Given the description of an element on the screen output the (x, y) to click on. 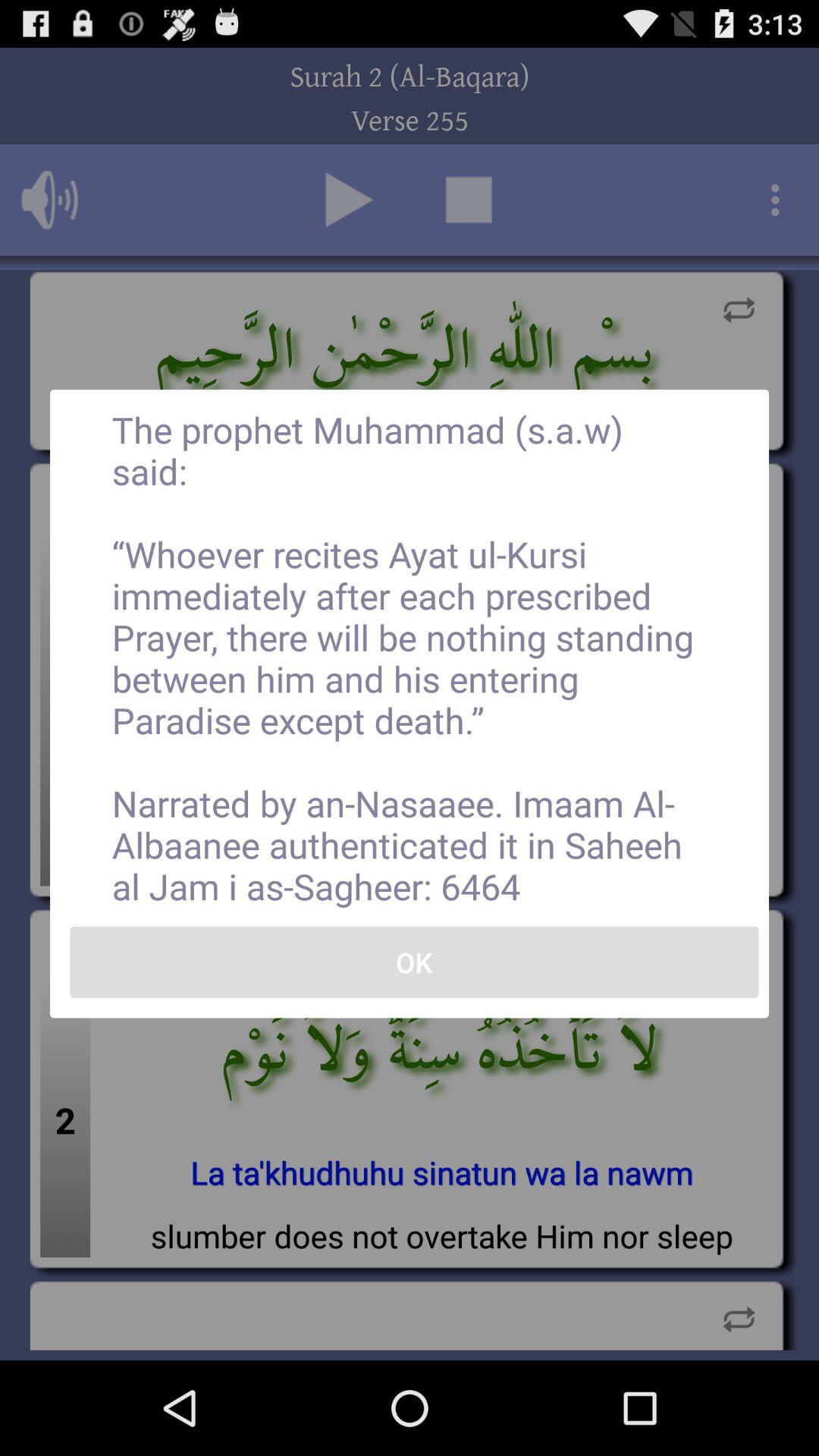
tap icon above the ok item (409, 657)
